Given the description of an element on the screen output the (x, y) to click on. 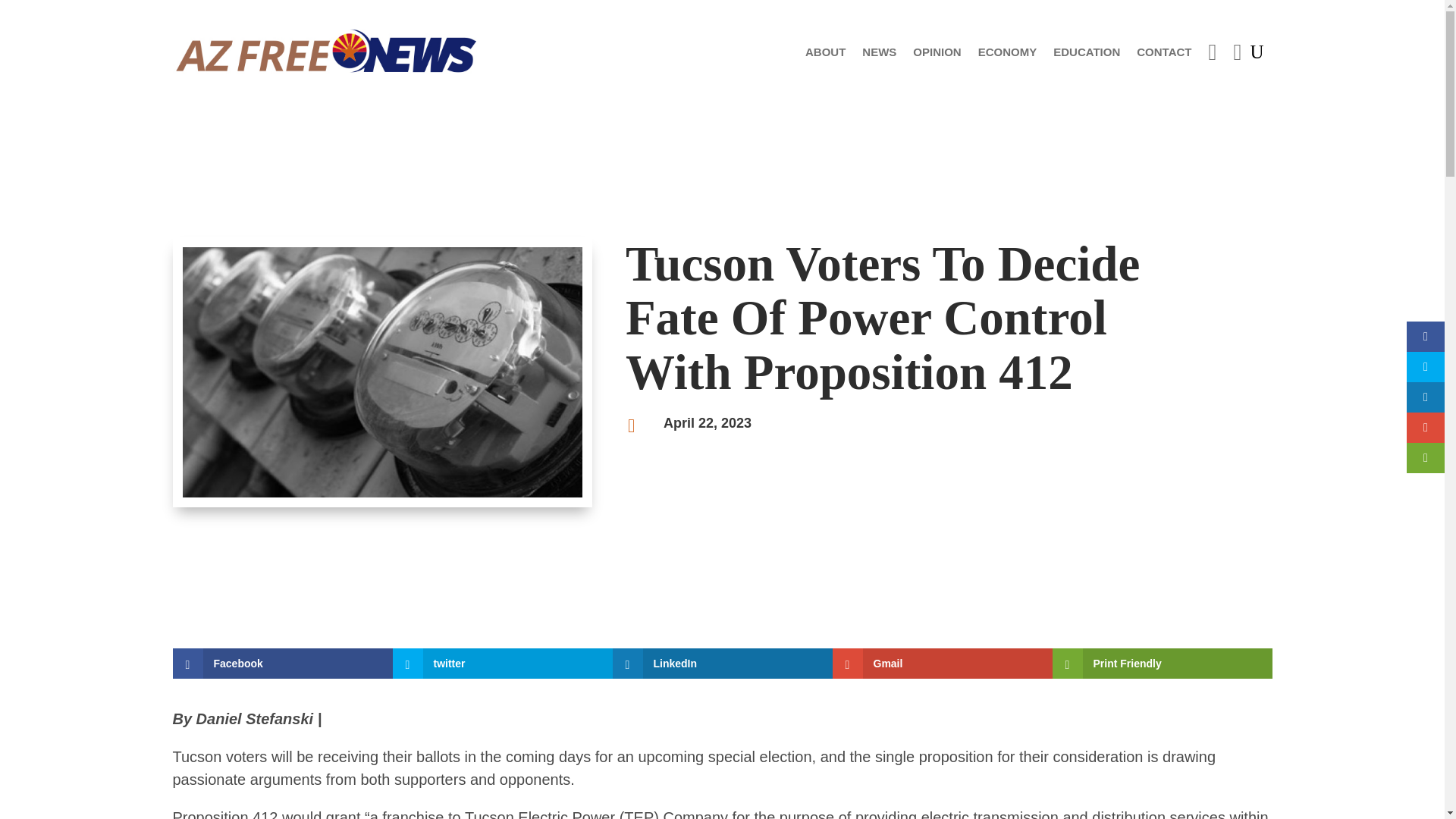
twitter (502, 663)
electricity (382, 372)
Facebook (283, 663)
Print Friendly (1162, 663)
LinkedIn (722, 663)
EDUCATION (1085, 51)
Gmail (942, 663)
